Given the description of an element on the screen output the (x, y) to click on. 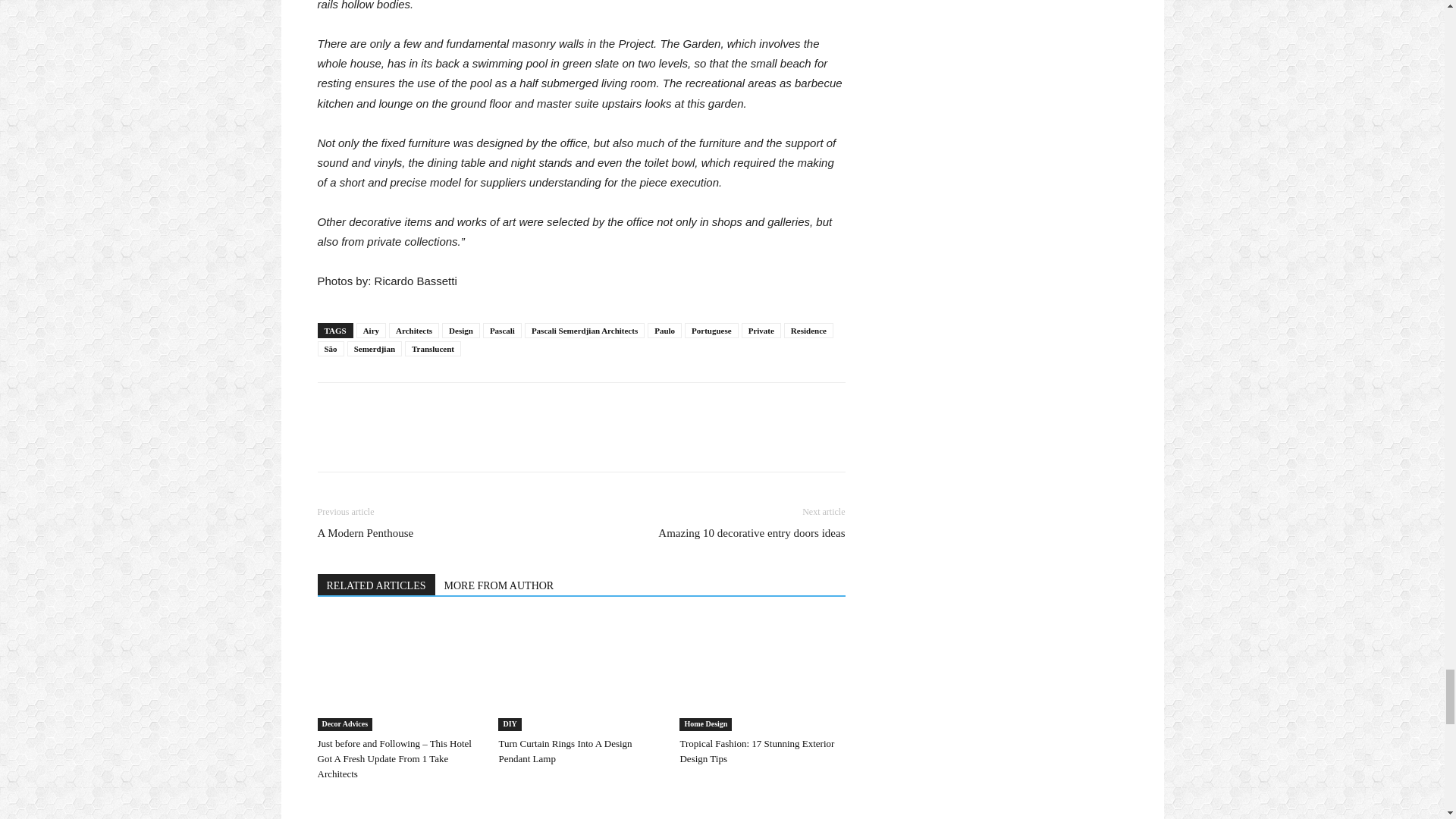
Pascali (502, 330)
Design (461, 330)
Architects (413, 330)
Airy (370, 330)
bottomFacebookLike (430, 406)
